Given the description of an element on the screen output the (x, y) to click on. 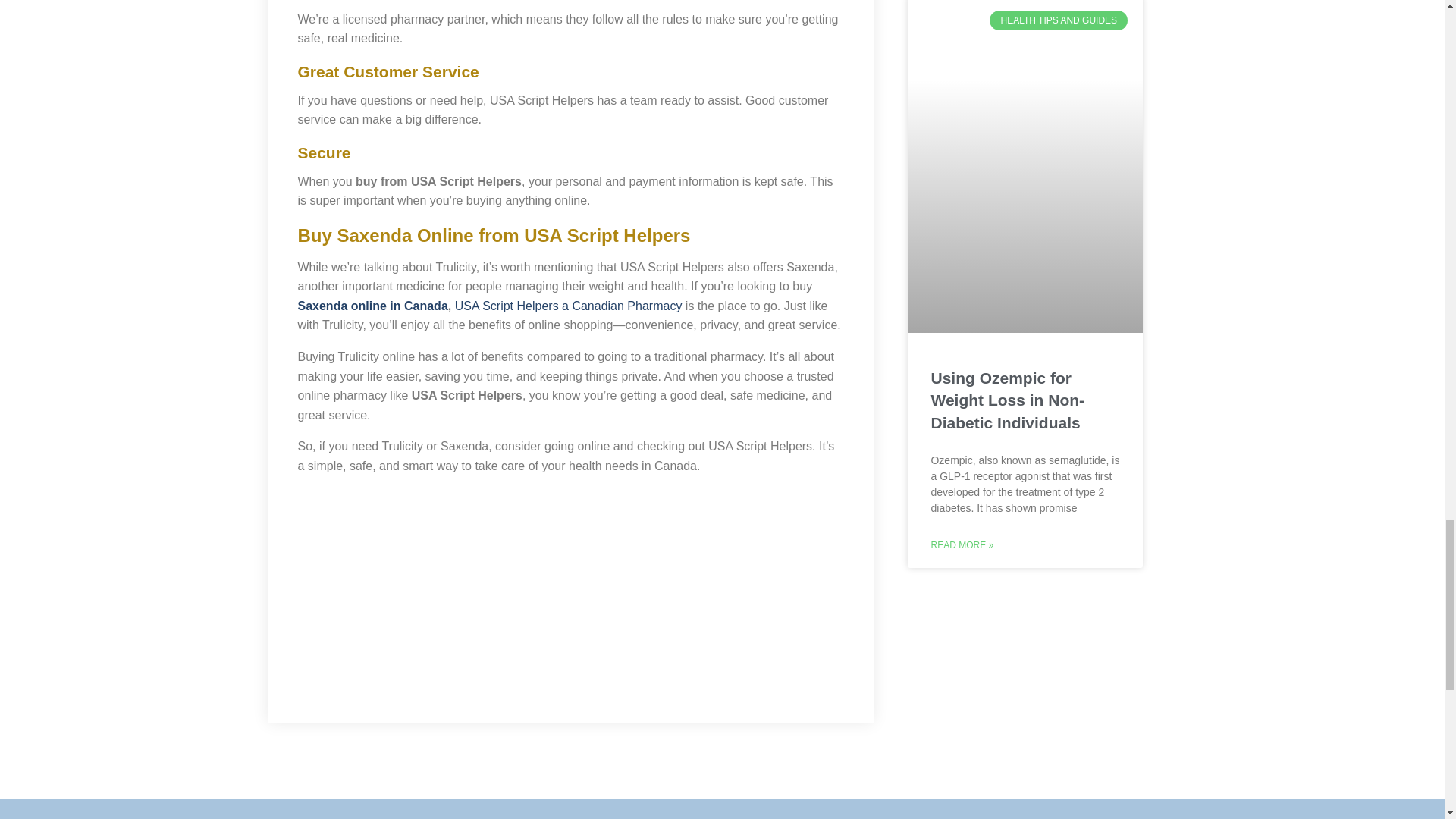
Saxenda online in Canada (371, 305)
USA Script Helpers a Canadian Pharmacy (568, 305)
